Given the description of an element on the screen output the (x, y) to click on. 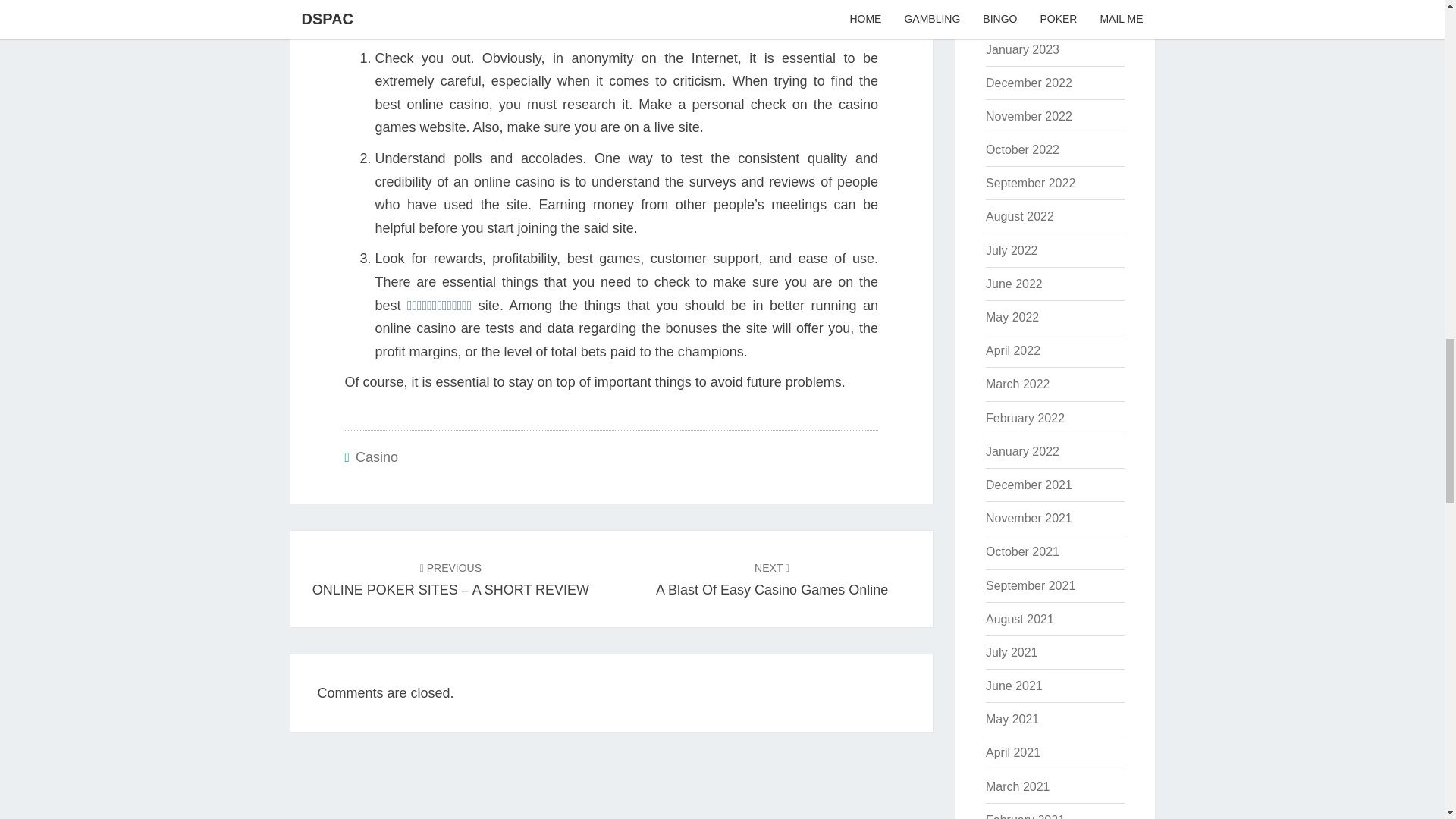
November 2022 (772, 578)
October 2022 (1028, 115)
January 2023 (1022, 149)
December 2022 (1022, 49)
February 2023 (1028, 82)
Casino (1024, 15)
September 2022 (376, 457)
